Given the description of an element on the screen output the (x, y) to click on. 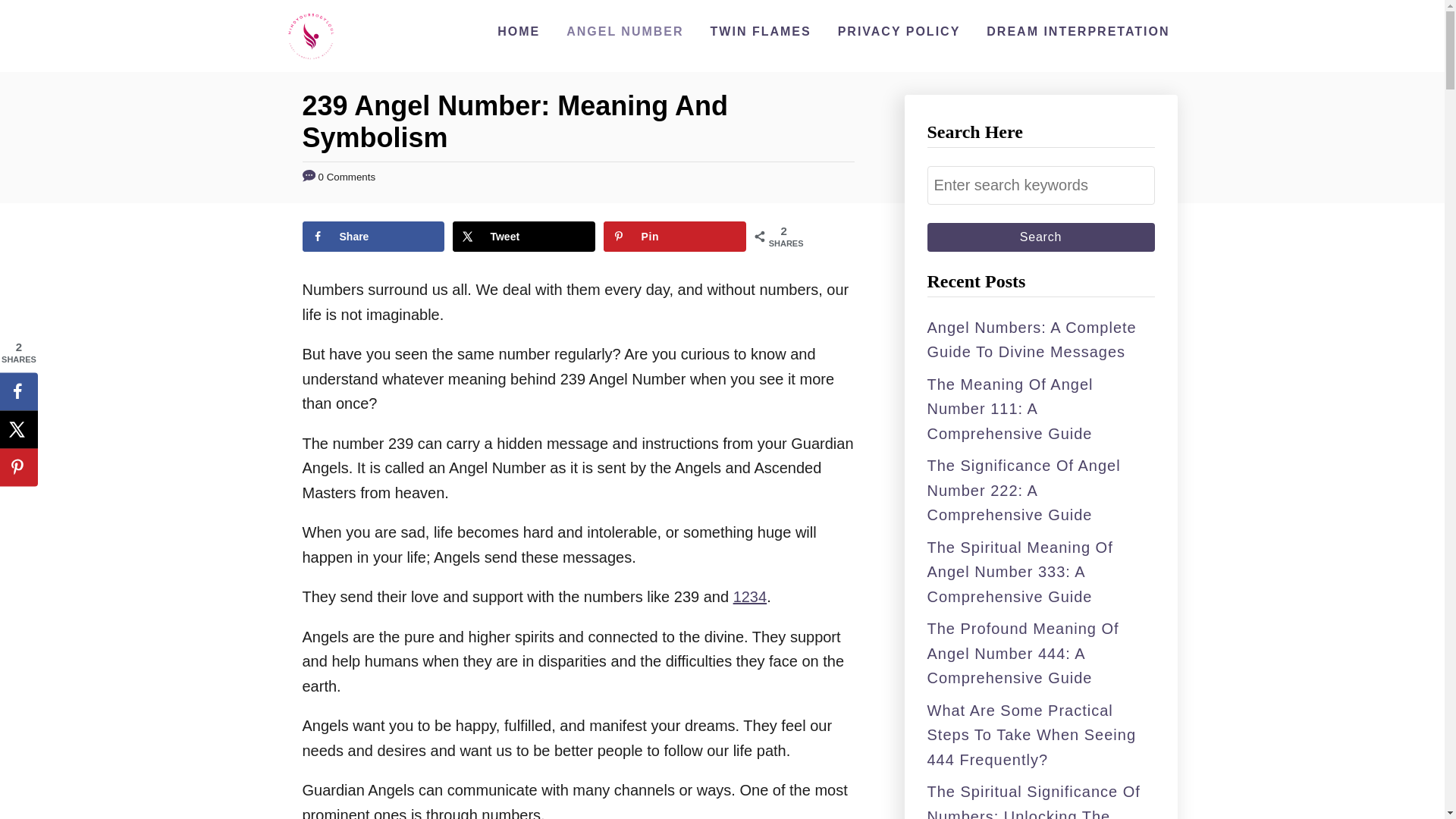
Mind Your Body Soul (310, 35)
Save to Pinterest (18, 466)
Share (372, 236)
1234 (750, 596)
Tweet (523, 236)
Angel Numbers: A Complete Guide To Divine Messages (1030, 339)
The Significance Of Angel Number 222: A Comprehensive Guide (1022, 490)
Share on Facebook (18, 391)
Search (1040, 236)
Share on X (523, 236)
DREAM INTERPRETATION (1077, 31)
Share on Facebook (372, 236)
Share on X (18, 428)
Search for: (1040, 185)
Save to Pinterest (674, 236)
